Given the description of an element on the screen output the (x, y) to click on. 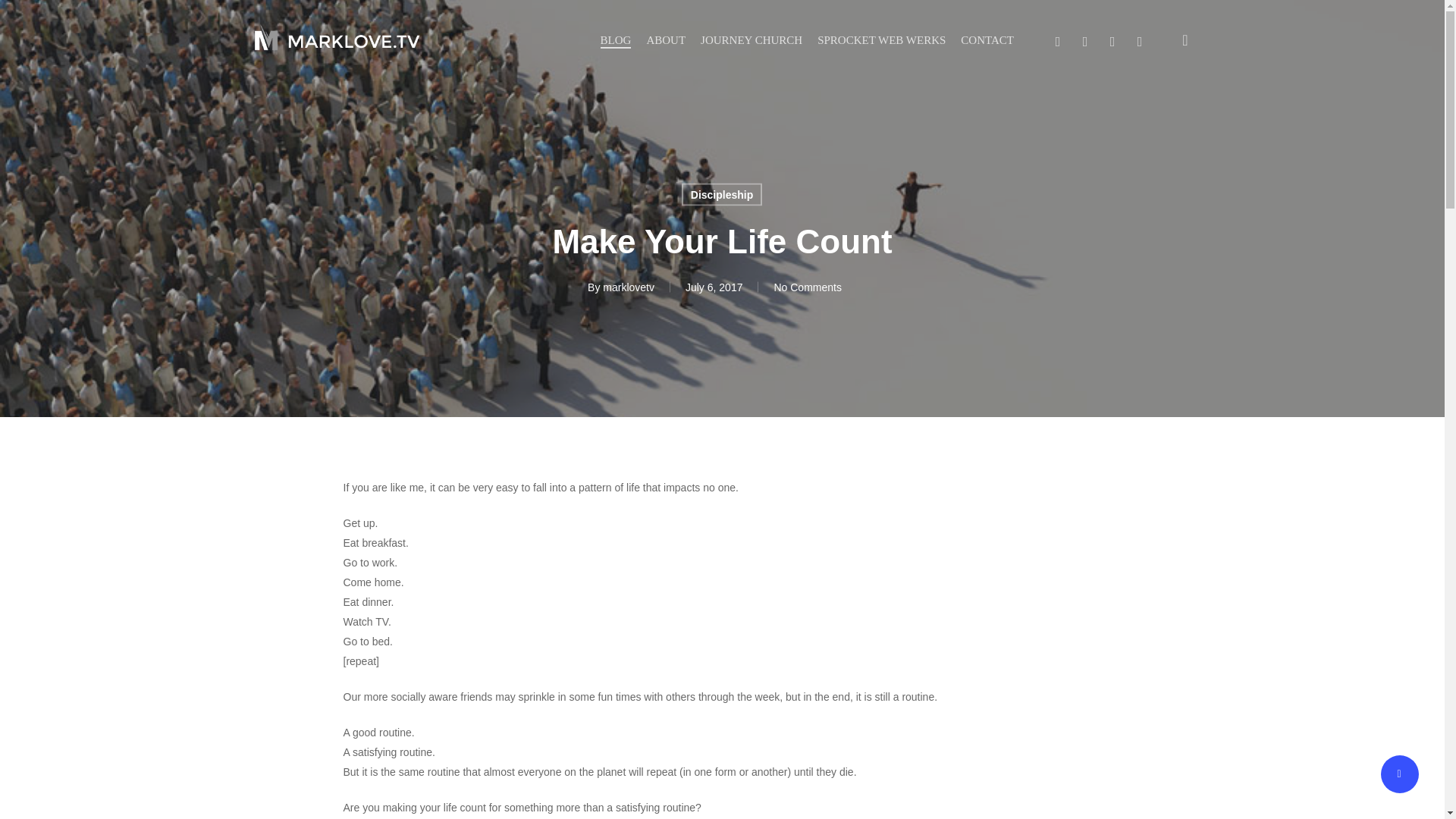
marklovetv (627, 286)
search (1184, 39)
BLOG (615, 40)
LINKEDIN (1112, 40)
JOURNEY CHURCH (751, 40)
CONTACT (986, 40)
TWITTER (1057, 40)
ABOUT (665, 40)
Discipleship (721, 194)
INSTAGRAM (1139, 40)
SPROCKET WEB WERKS (880, 40)
Posts by marklovetv (627, 286)
No Comments (807, 286)
FACEBOOK (1085, 40)
